Given the description of an element on the screen output the (x, y) to click on. 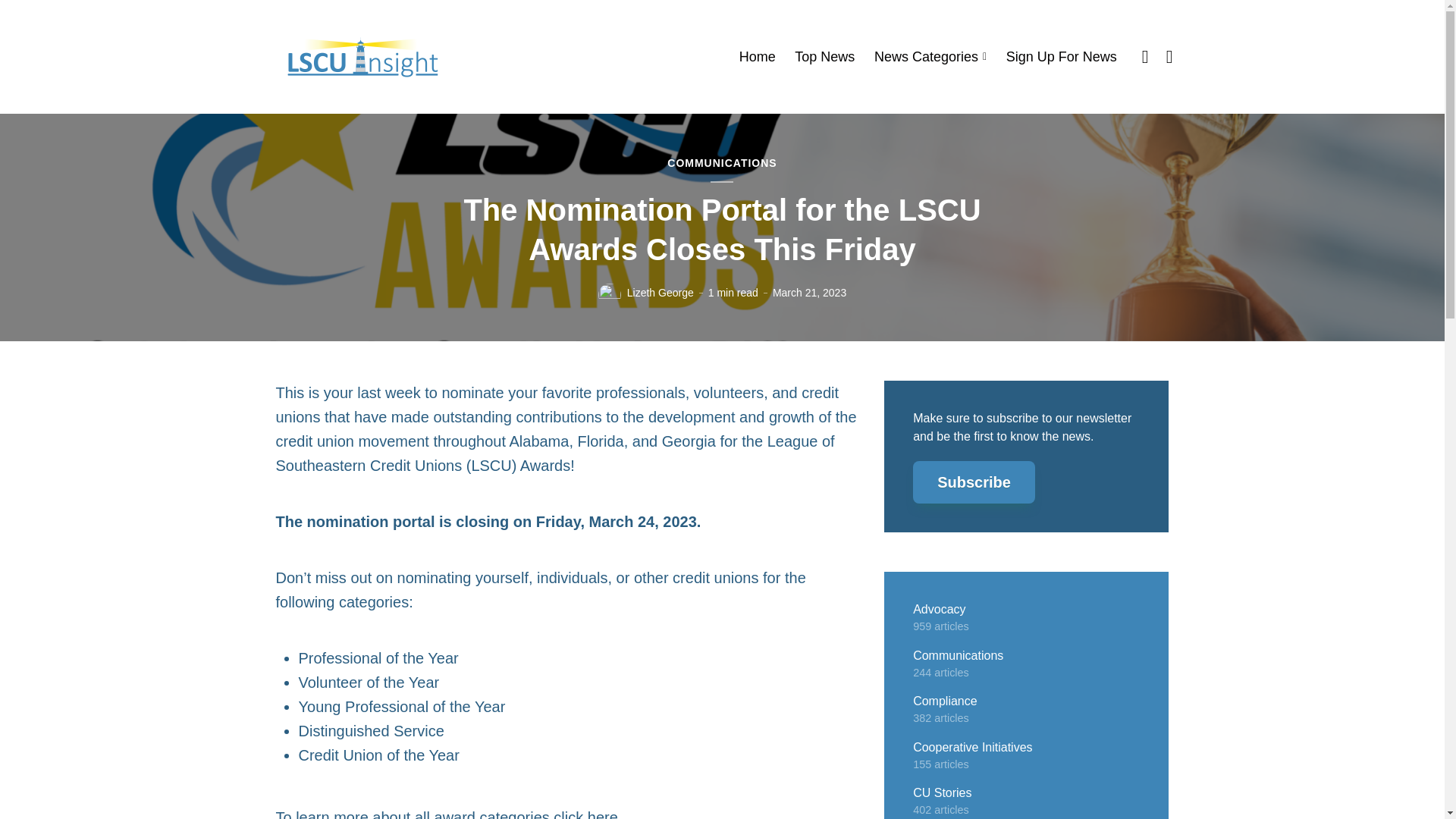
Home (757, 56)
Sign Up For News (1061, 56)
News Categories (931, 56)
Top News (824, 56)
COMMUNICATIONS (721, 163)
Lizeth George (660, 292)
